Given the description of an element on the screen output the (x, y) to click on. 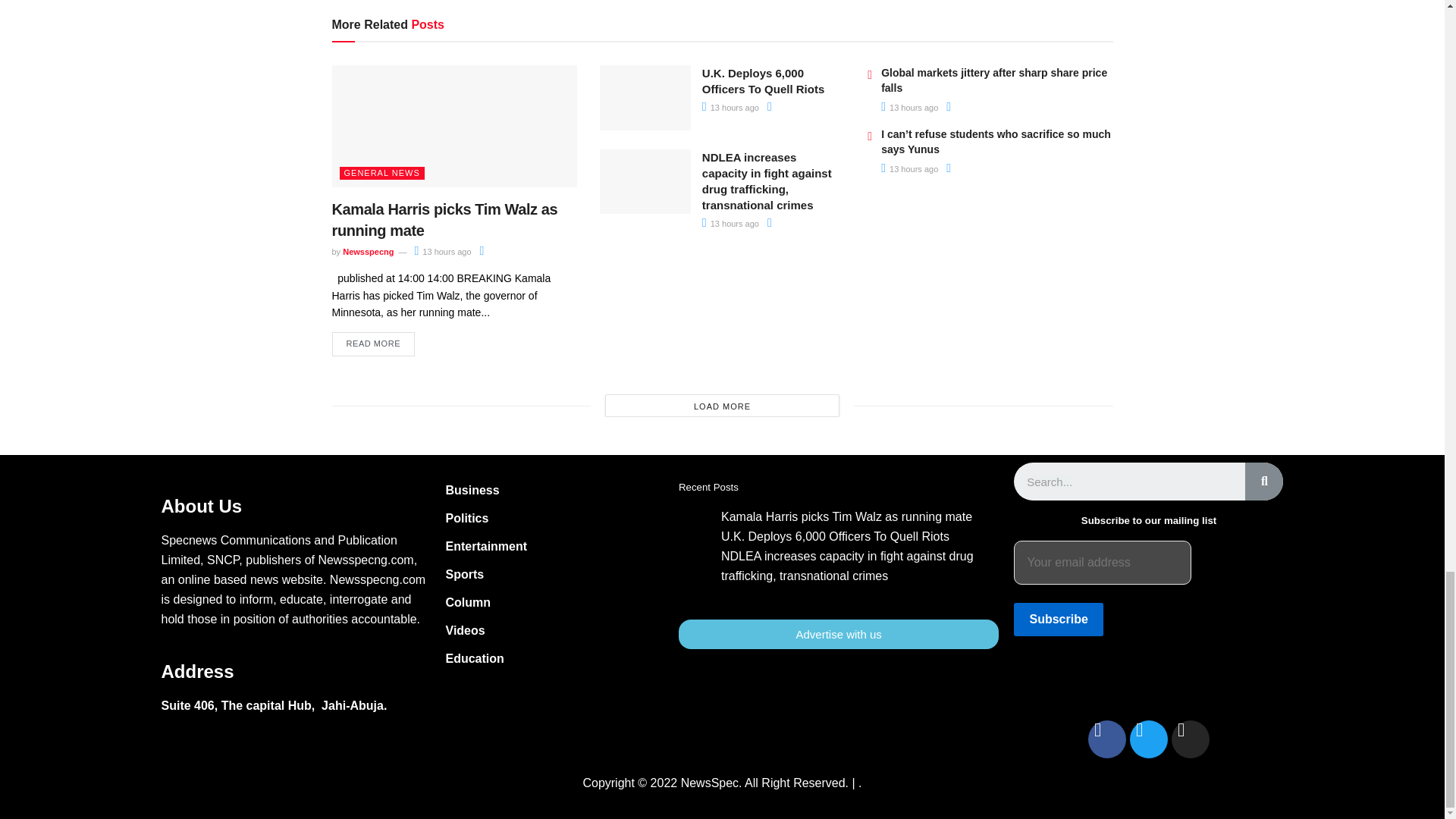
Subscribe (1057, 619)
Search (1263, 481)
Search (1128, 481)
